Given the description of an element on the screen output the (x, y) to click on. 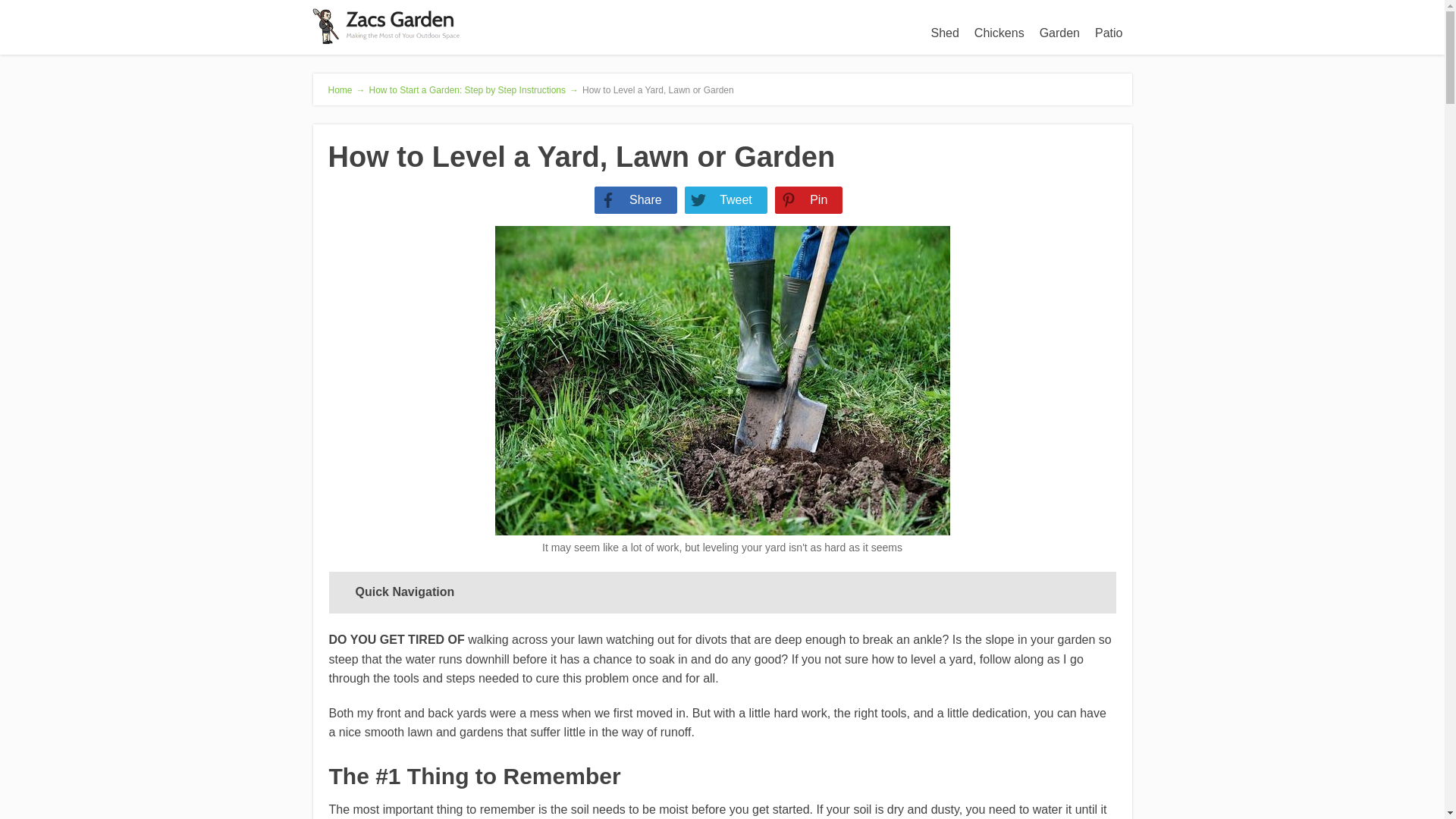
Patio (1108, 32)
Garden (1059, 32)
Share (628, 199)
Shed (944, 32)
Chickens (999, 32)
Pin (801, 199)
Tweet (718, 199)
